Given the description of an element on the screen output the (x, y) to click on. 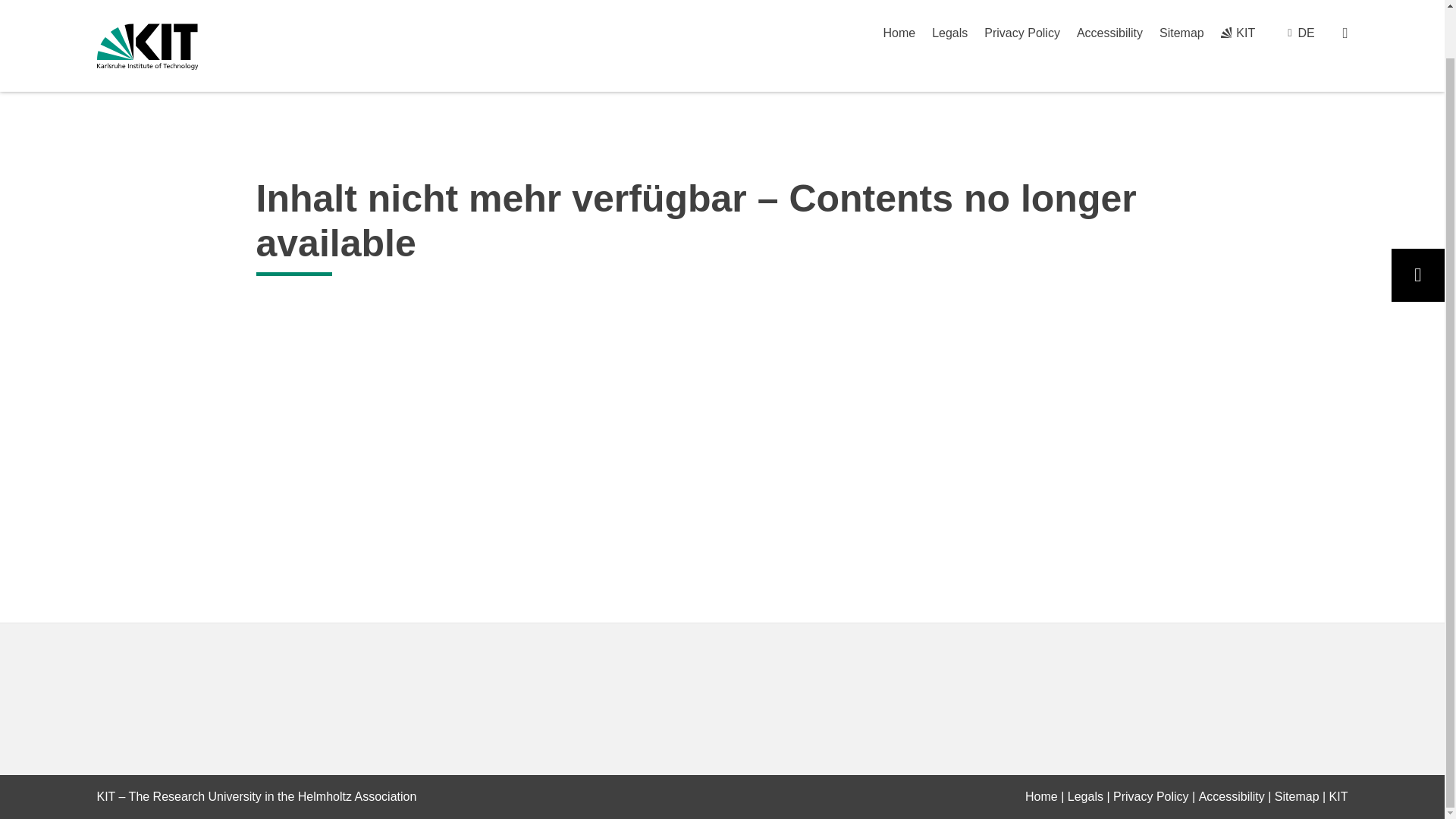
Legals (1085, 796)
KIT (1338, 796)
startpage (1041, 796)
Sitemap (1297, 796)
KIT-Homepage (147, 9)
Privacy Policy (1151, 796)
Accessibility (1231, 796)
Home (1041, 796)
